Given the description of an element on the screen output the (x, y) to click on. 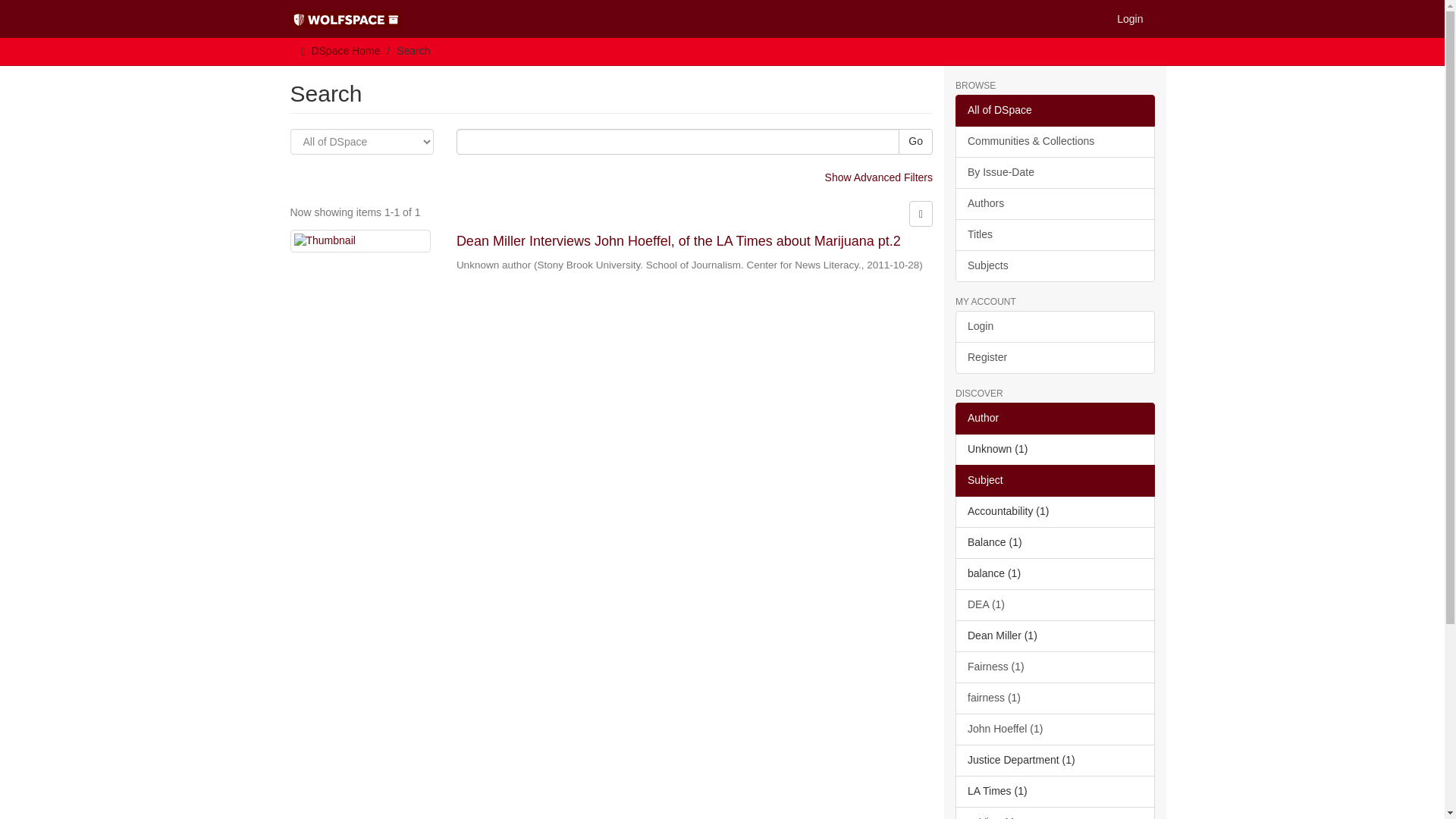
Go (915, 141)
Authors (1054, 204)
By Issue-Date (1054, 173)
Login (1129, 18)
Show Advanced Filters (879, 177)
All of DSpace (1054, 110)
DSpace Home (345, 50)
